Given the description of an element on the screen output the (x, y) to click on. 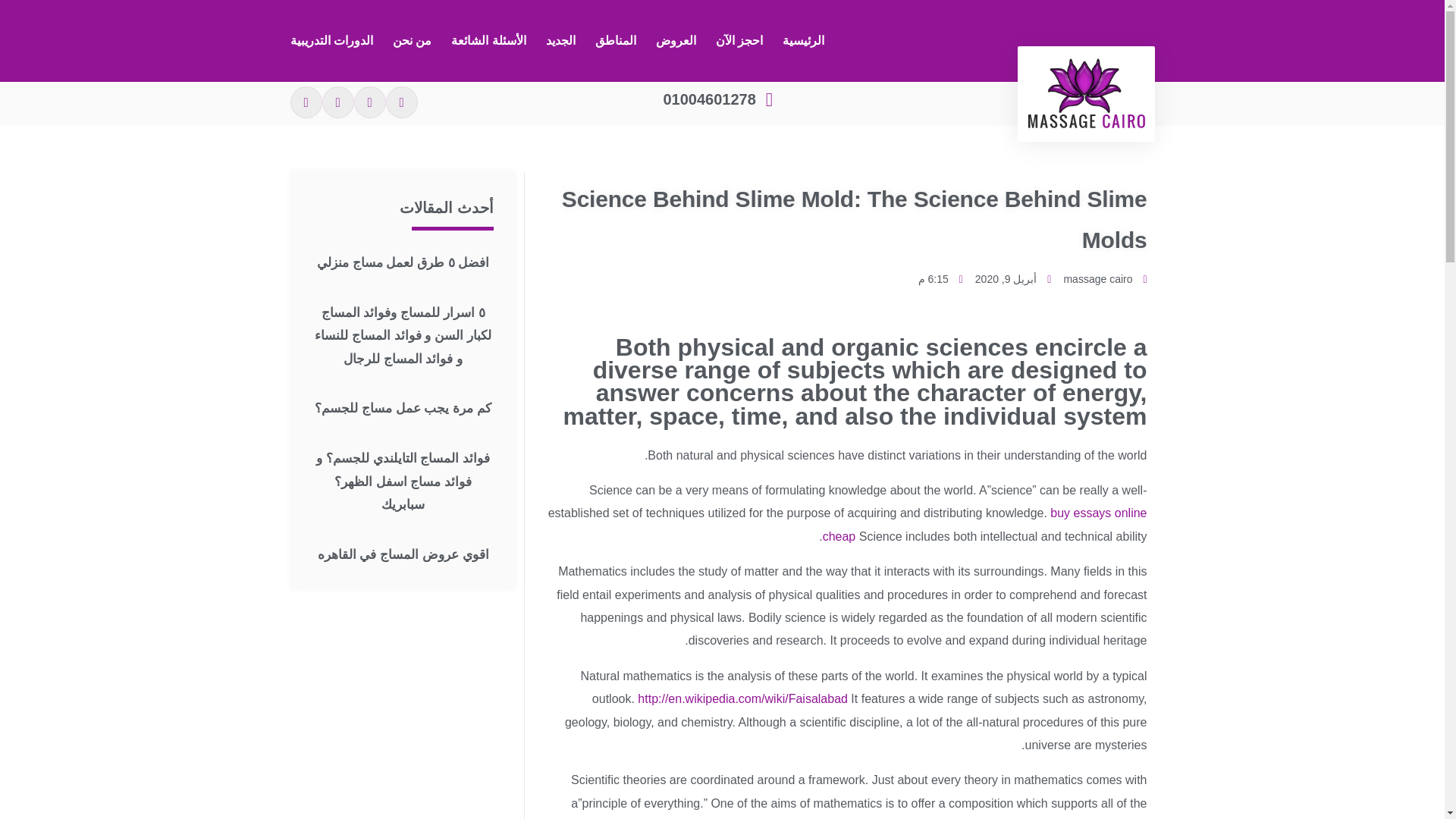
buy essays online cheap (984, 524)
01004601278 (719, 99)
